Given the description of an element on the screen output the (x, y) to click on. 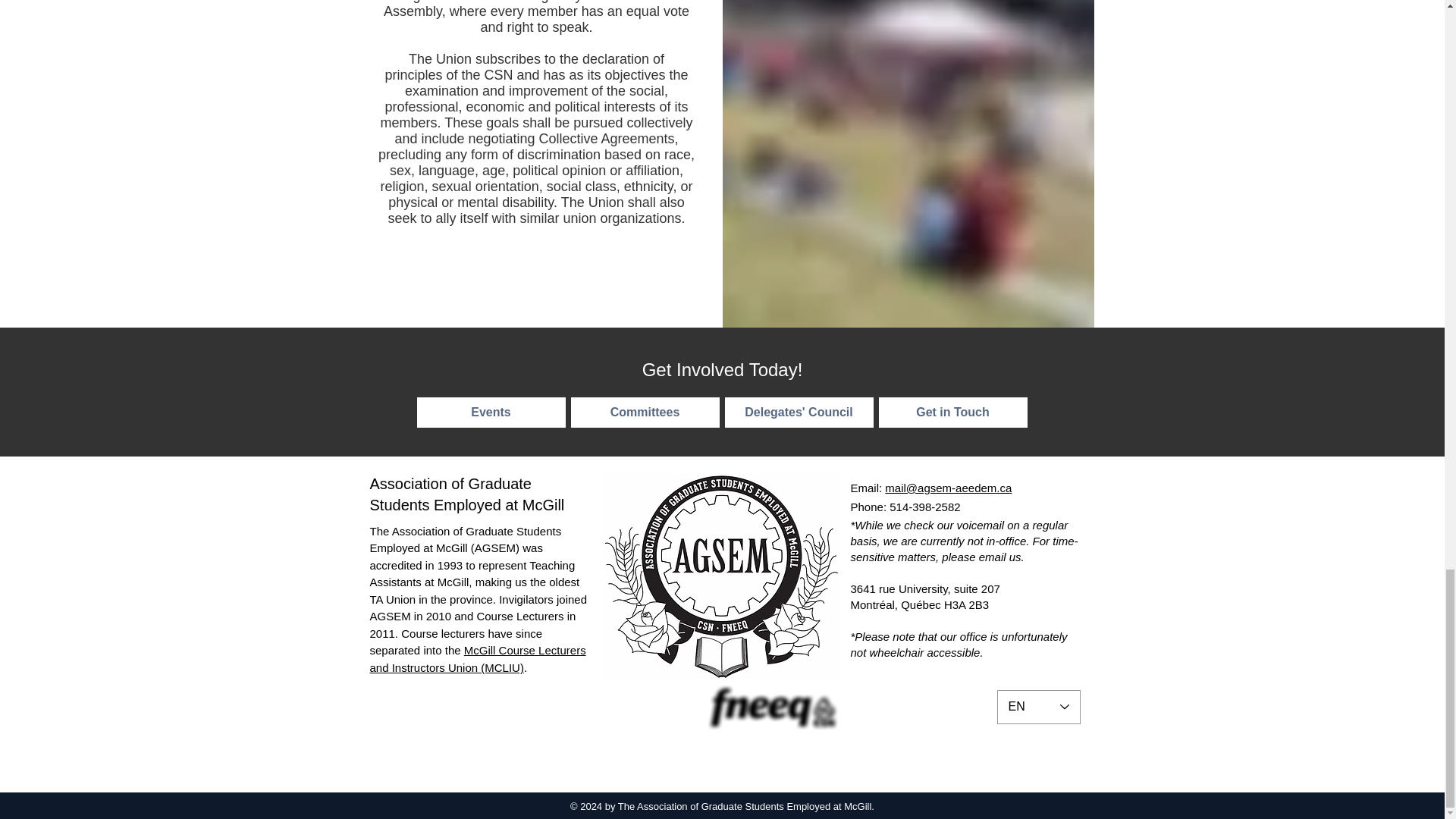
FNEEQ CSN Logo.png (772, 708)
